Given the description of an element on the screen output the (x, y) to click on. 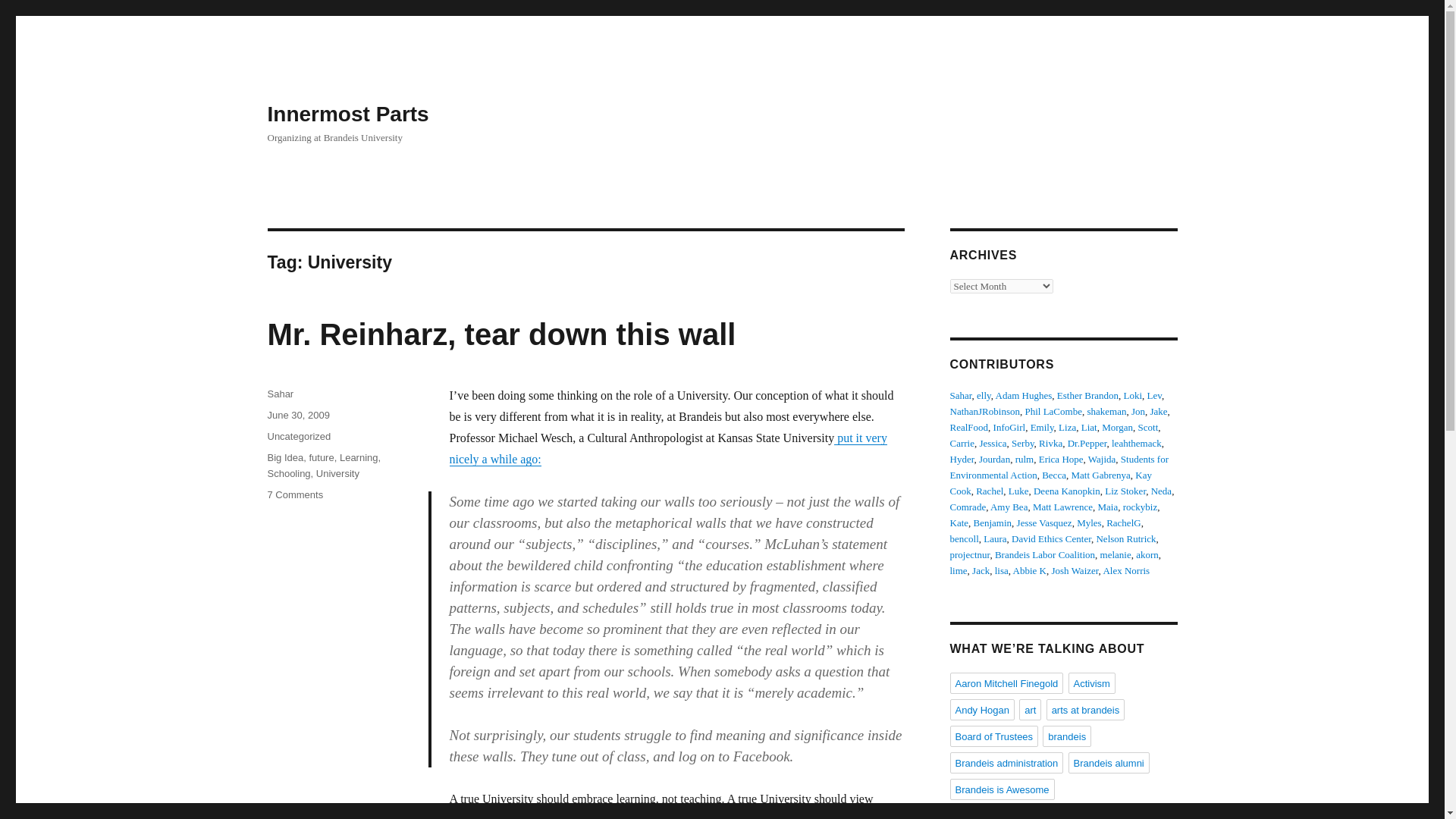
elly (983, 395)
Jessica (992, 442)
Phil LaCombe (1053, 410)
InfoGirl (1009, 427)
Sahar (960, 395)
Jourdan (994, 459)
Dr.Pepper (1086, 442)
Jake (1158, 410)
June 30, 2009 (297, 414)
Rivka (1050, 442)
